Given the description of an element on the screen output the (x, y) to click on. 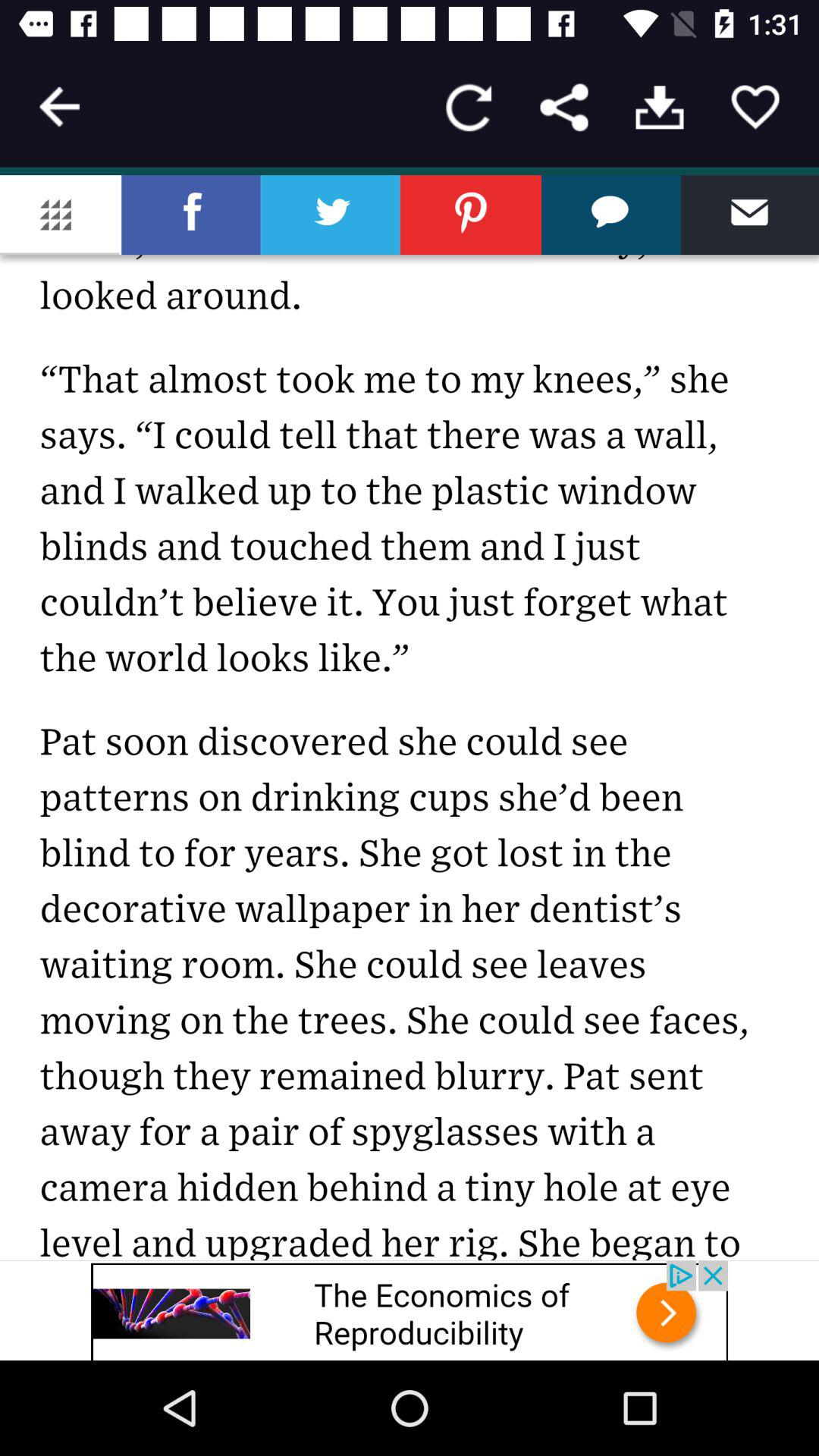
advertisement (409, 1310)
